Given the description of an element on the screen output the (x, y) to click on. 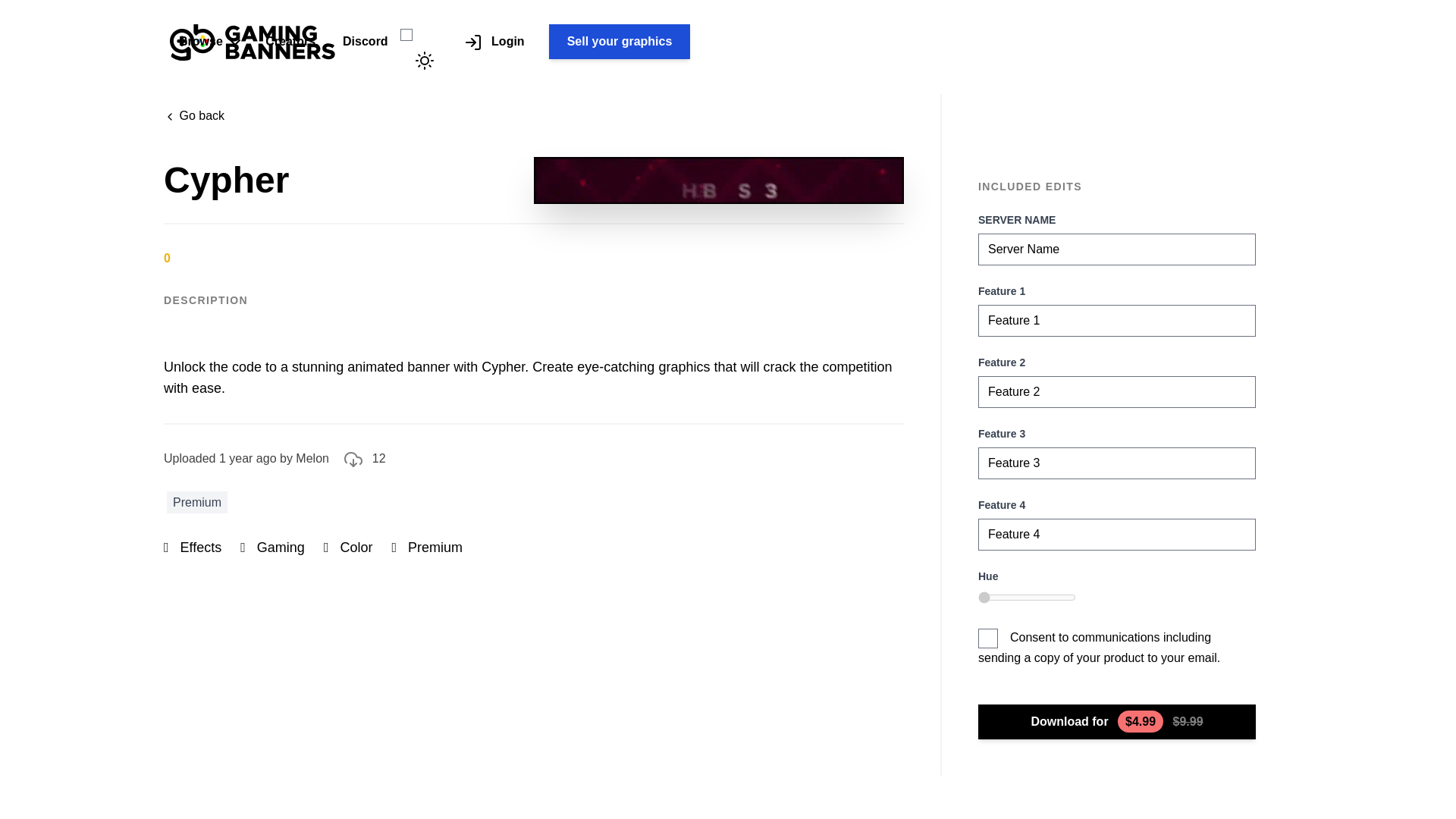
Feature 2 (1116, 391)
Premium (197, 502)
Feature 4 (1116, 534)
Feature 1 (1116, 320)
Login (498, 41)
on (987, 638)
1 (1026, 597)
Server Name (1116, 249)
Creators (290, 41)
Go back (533, 116)
